Given the description of an element on the screen output the (x, y) to click on. 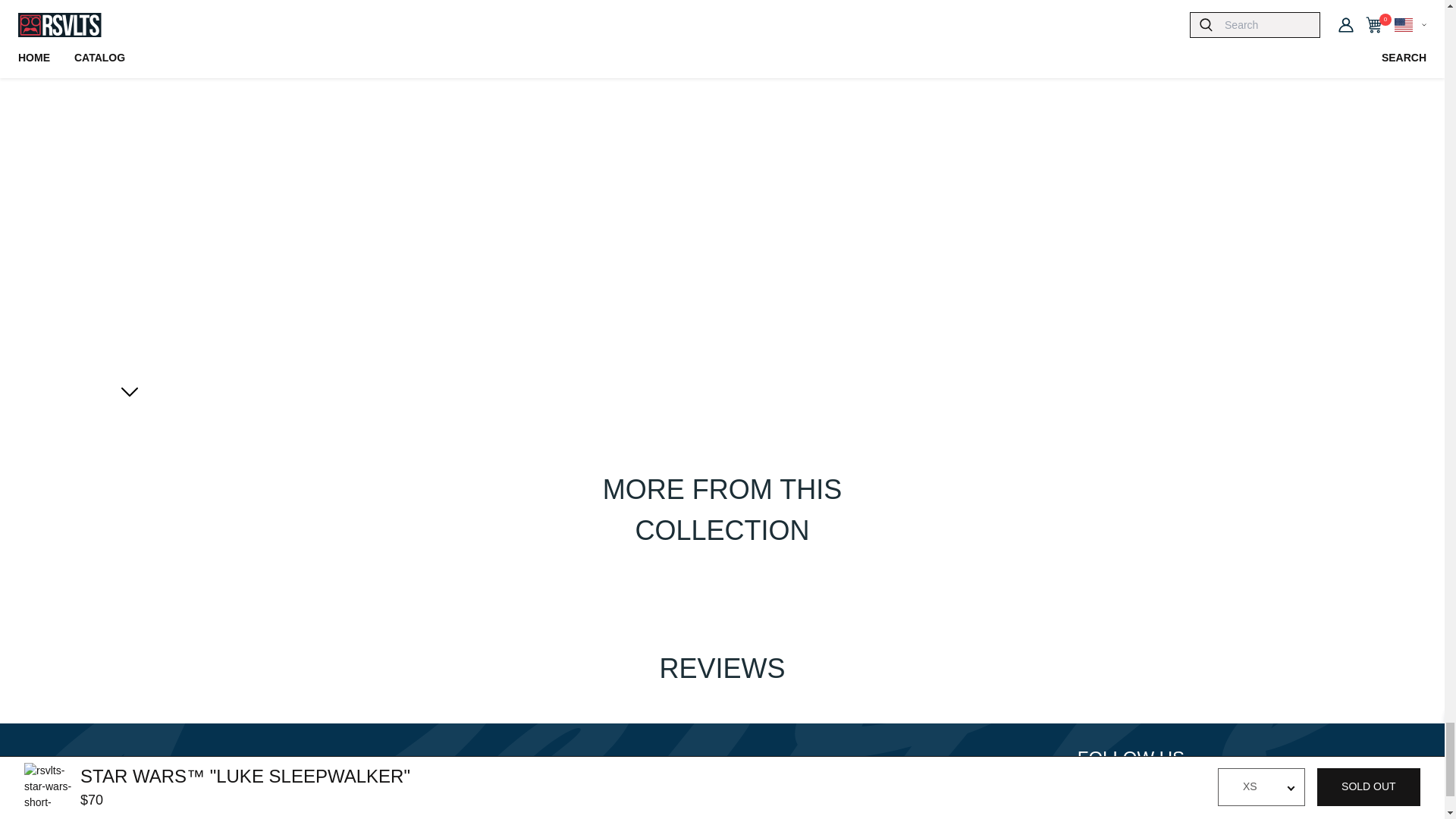
Instagram (1162, 789)
Twitter (1125, 789)
Facebook (1089, 789)
